Given the description of an element on the screen output the (x, y) to click on. 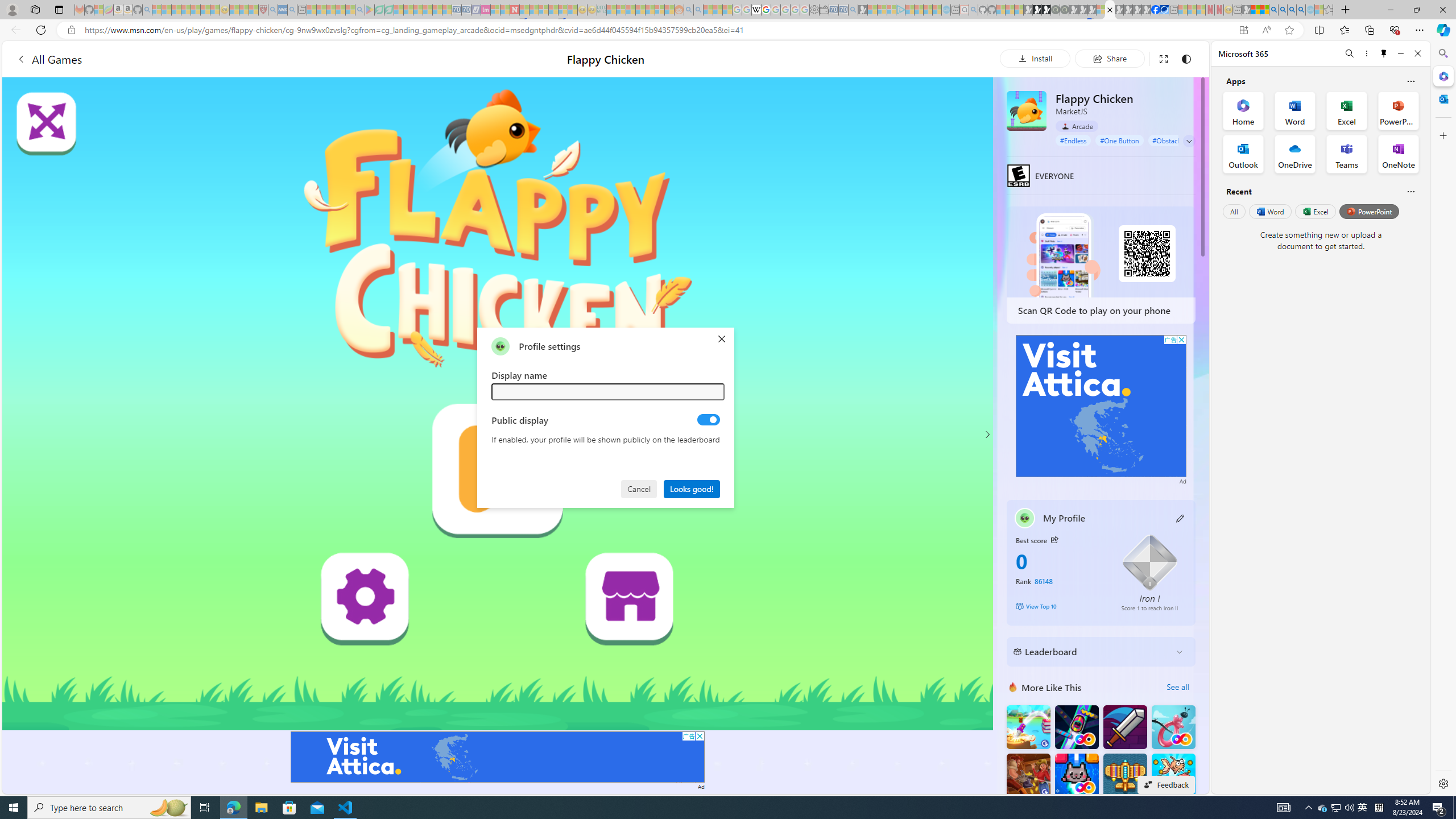
#Obstacle Course (1178, 140)
See all (1177, 687)
Pets - MSN - Sleeping (340, 9)
Full screen (1163, 58)
App available. Install Flappy Chicken (1243, 29)
